Given the description of an element on the screen output the (x, y) to click on. 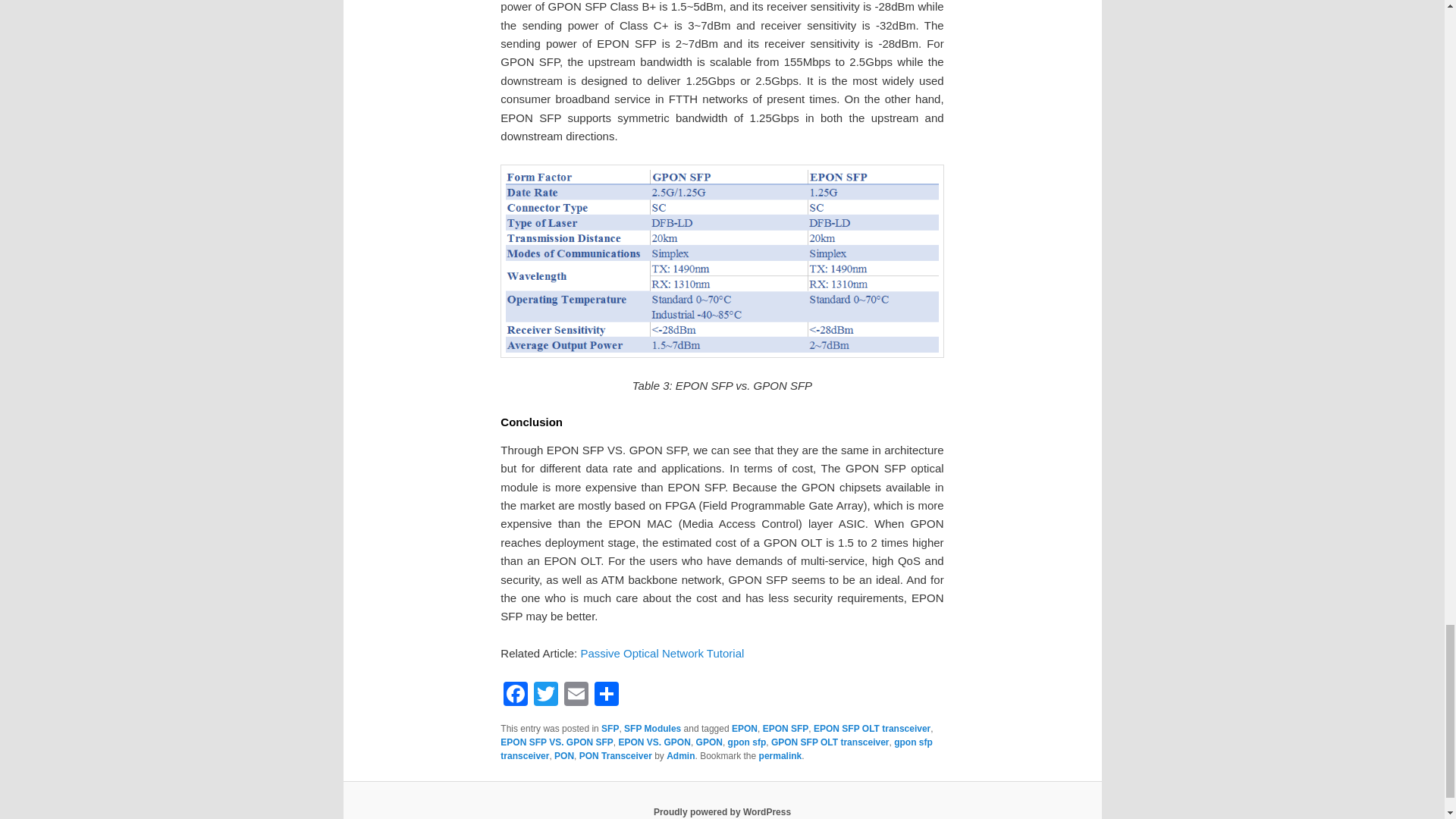
Email (575, 695)
GPON (708, 742)
EPON (744, 728)
Passive Optical Network Tutorial (661, 653)
SFP (609, 728)
SFP Modules (652, 728)
EPON VS. GPON (654, 742)
Twitter (545, 695)
EPON SFP VS. GPON SFP (556, 742)
